Given the description of an element on the screen output the (x, y) to click on. 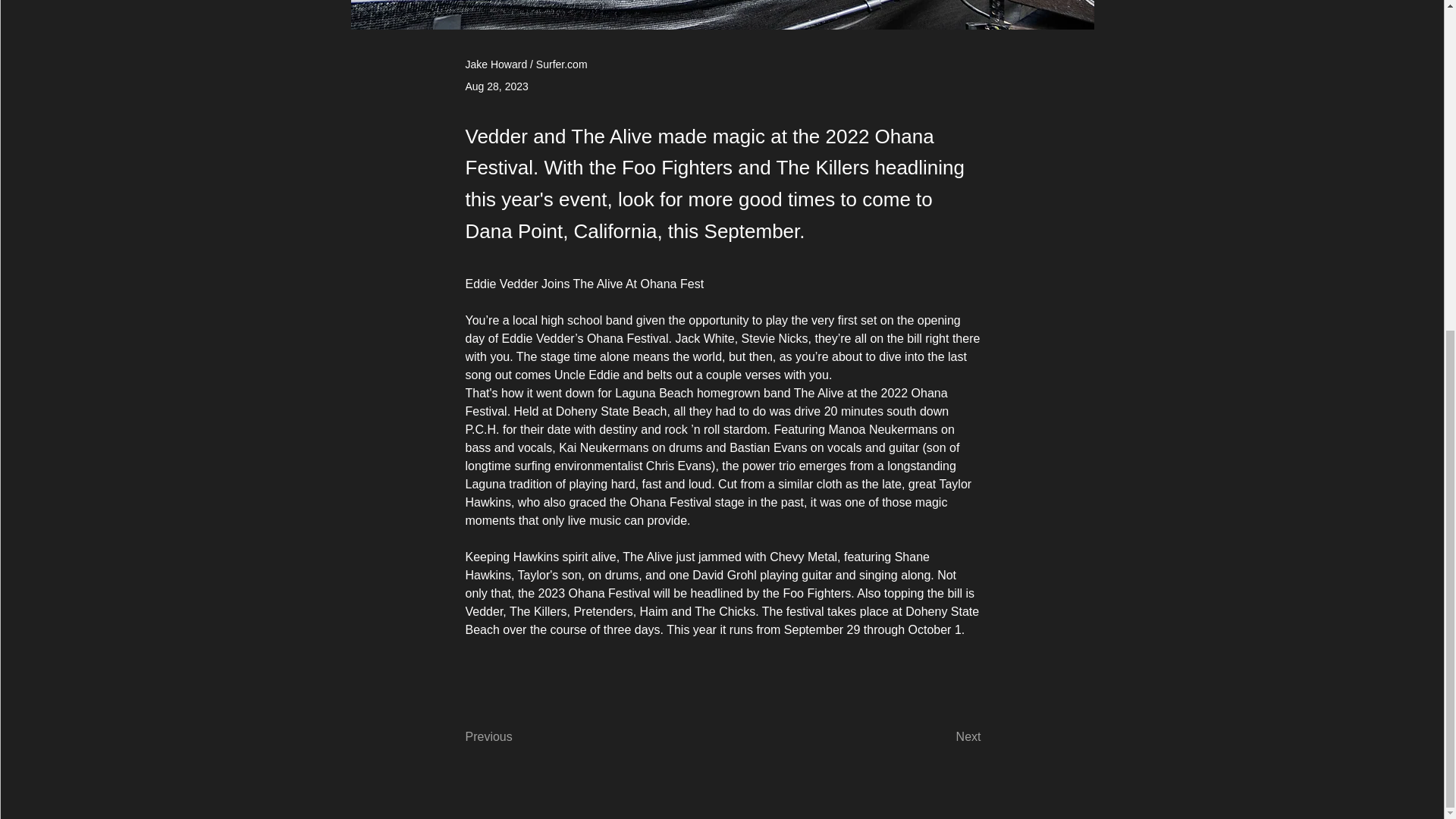
Ohana Festival (627, 338)
The Alive (818, 392)
Foo Fighters (816, 593)
Doheny State Beach (723, 620)
Taylor Hawkins (720, 492)
Next (943, 736)
Previous (515, 736)
Chevy Metal (803, 556)
